Given the description of an element on the screen output the (x, y) to click on. 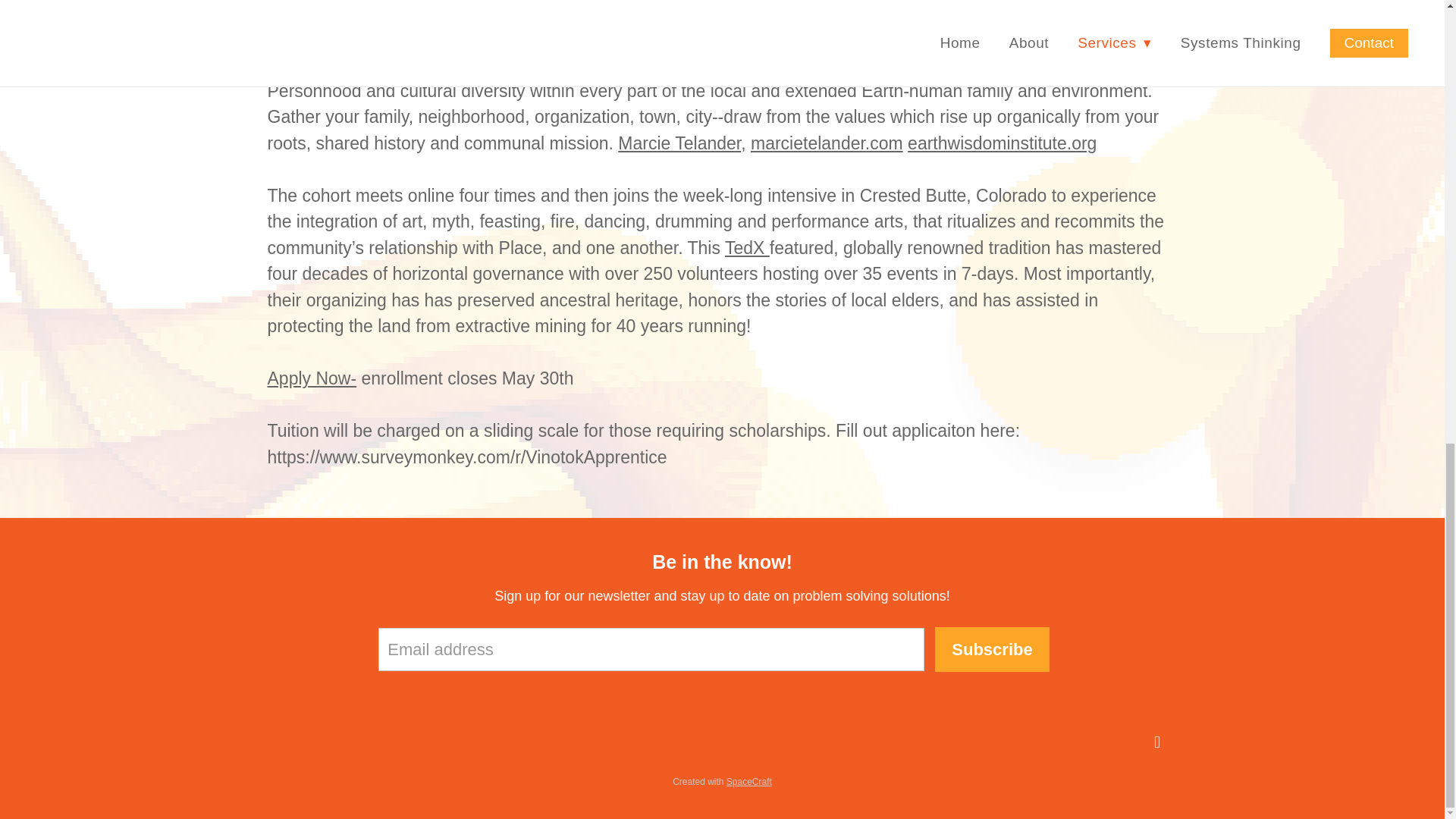
Apply Now- (311, 378)
Marcie Telander (679, 142)
TedX (747, 247)
earthwisdominstitute.org (1001, 142)
marcietelander.com (826, 142)
Created with SpaceCraft (721, 781)
Subscribe (991, 649)
